Given the description of an element on the screen output the (x, y) to click on. 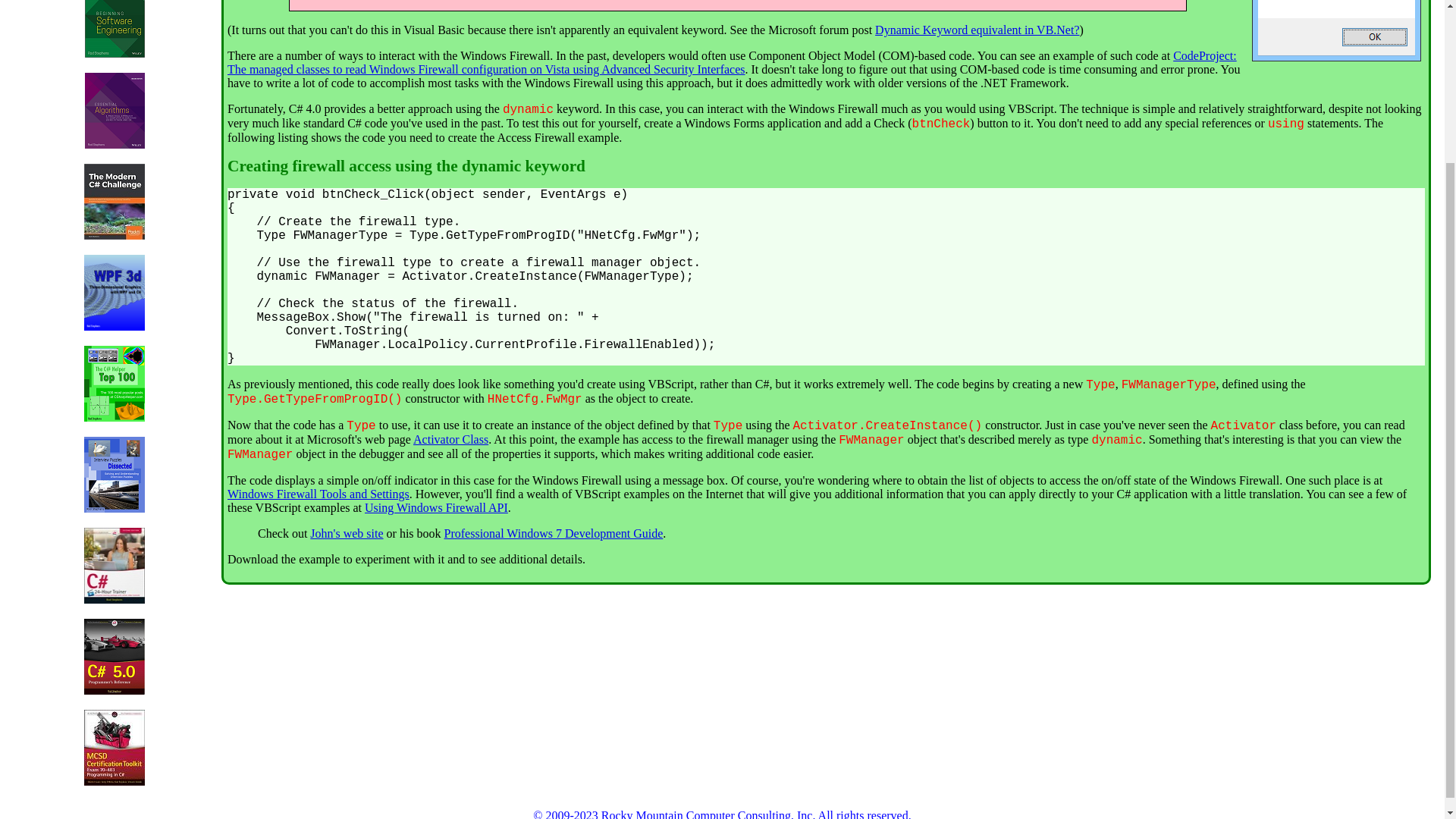
Using Windows Firewall API (436, 507)
Interview Puzzles Dissected (114, 508)
Dynamic Keyword equivalent in VB.Net? (976, 29)
Essential Algorithms (114, 144)
Beginning Software Engineering, Second Edition (114, 52)
Windows Firewall Tools and Settings (318, 493)
Activator Class (450, 439)
Professional Windows 7 Development Guide (553, 533)
John's web site (346, 533)
